Given the description of an element on the screen output the (x, y) to click on. 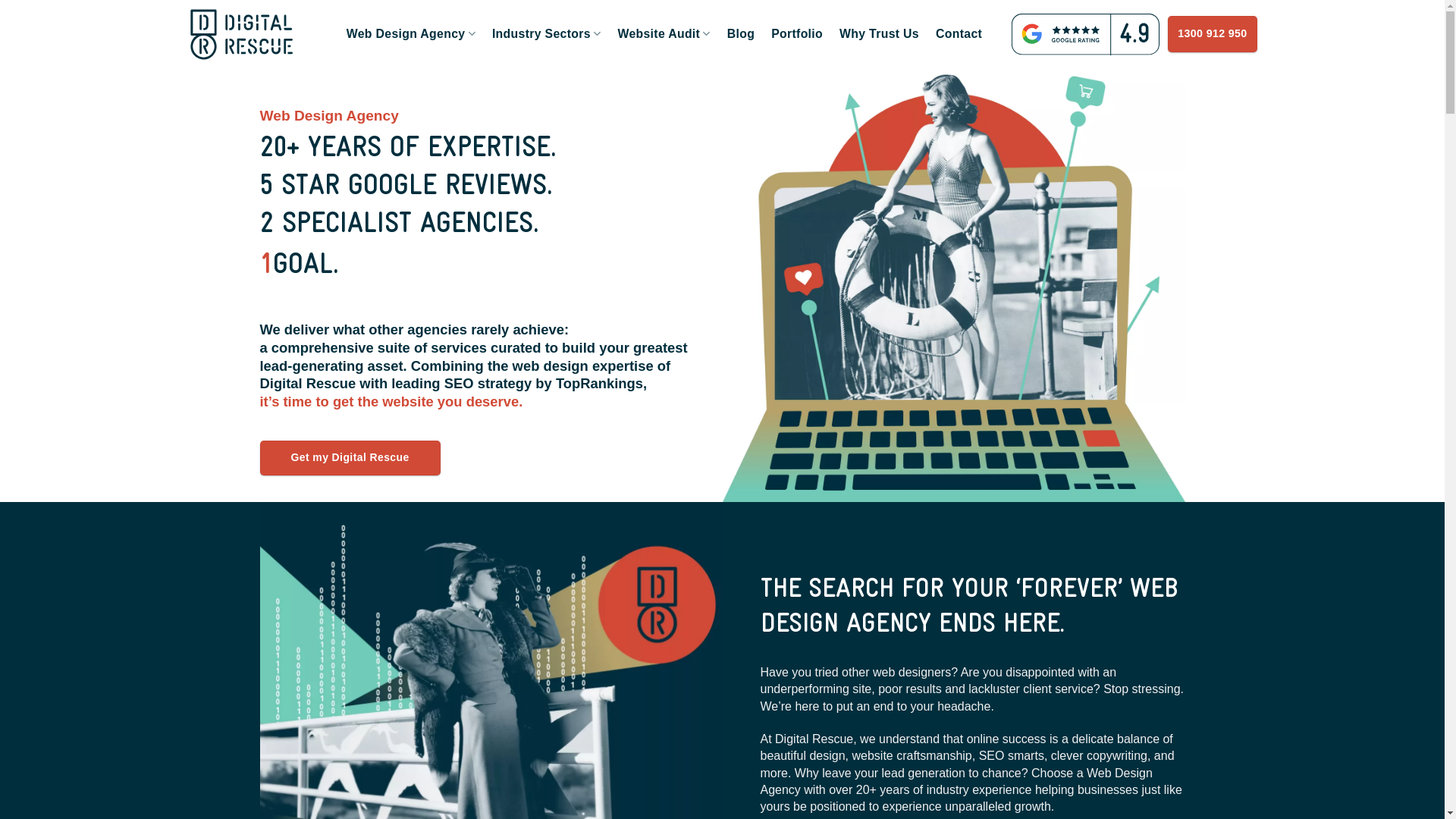
Why Trust Us Element type: text (879, 33)
Get my Digital Rescue Element type: text (349, 457)
Skip to content Element type: text (0, 0)
Digital Rescue Google Rating 4.9 Element type: hover (1085, 34)
Industry Sectors Element type: text (546, 33)
1300 912 950 Element type: text (1211, 33)
Portfolio Element type: text (796, 33)
Web Design Agency Element type: hover (241, 33)
Website Audit Element type: text (663, 33)
Blog Element type: text (740, 33)
Contact Element type: text (958, 33)
Web Design Agency Element type: text (410, 33)
